Given the description of an element on the screen output the (x, y) to click on. 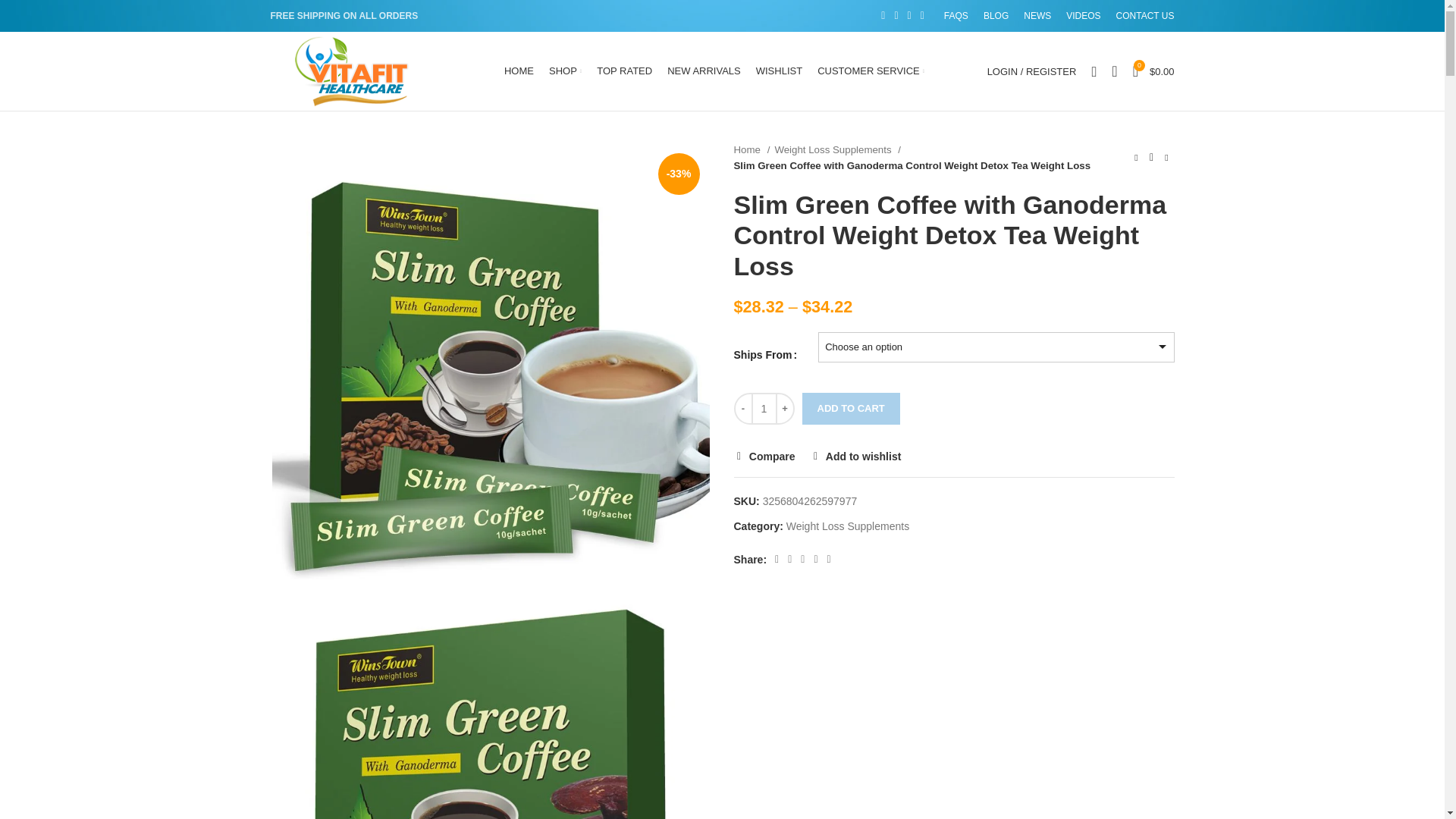
VIDEOS (1083, 15)
Qty (763, 409)
- (742, 409)
WISHLIST (778, 71)
1 (763, 409)
My Wishlist (1113, 71)
Search (1093, 71)
BLOG (995, 15)
TOP RATED (624, 71)
HOME (518, 71)
FAQS (955, 15)
NEW ARRIVALS (703, 71)
Log in (950, 324)
My account (1031, 71)
SHOP (565, 71)
